Given the description of an element on the screen output the (x, y) to click on. 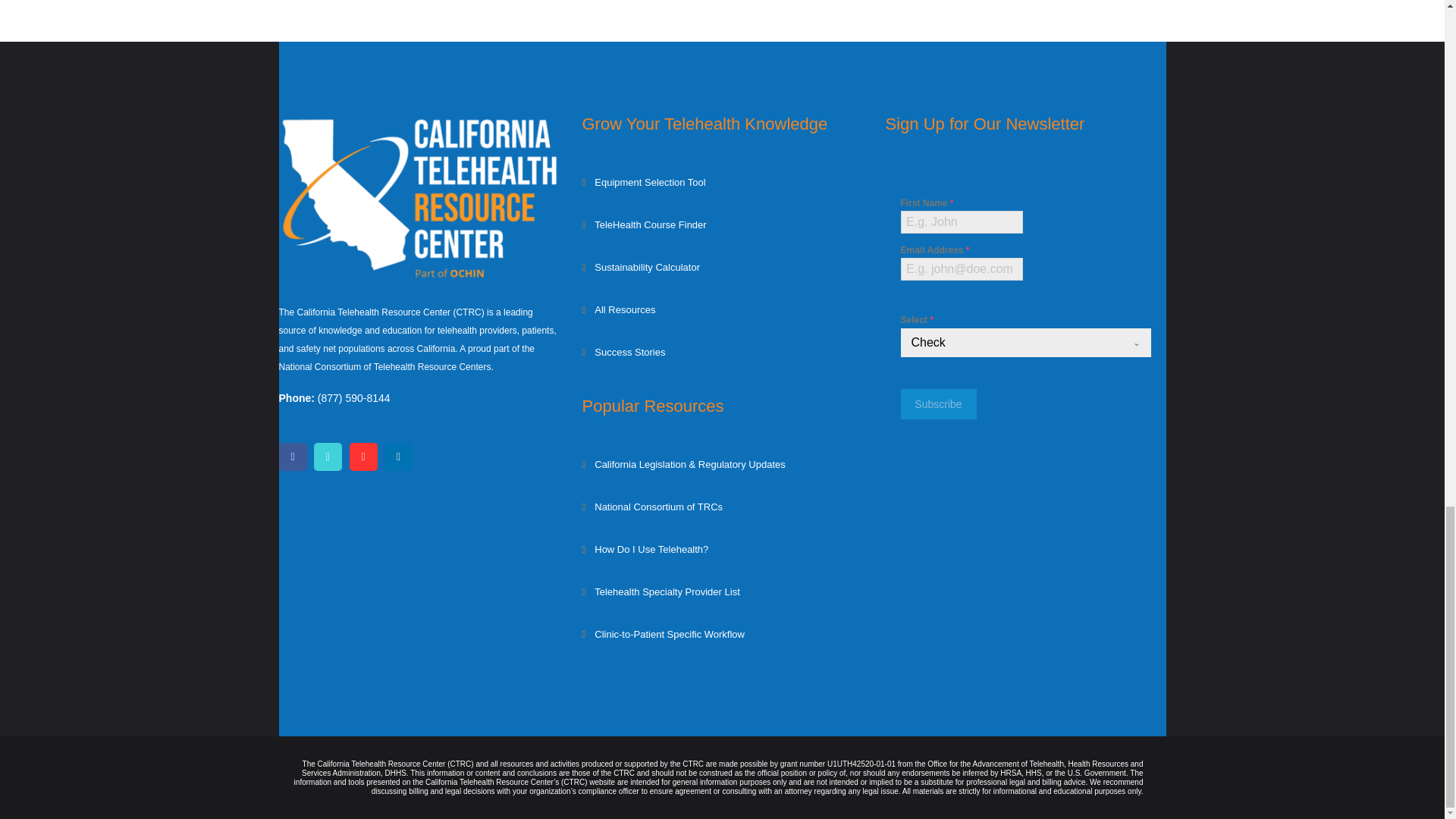
Check (1011, 342)
